Given the description of an element on the screen output the (x, y) to click on. 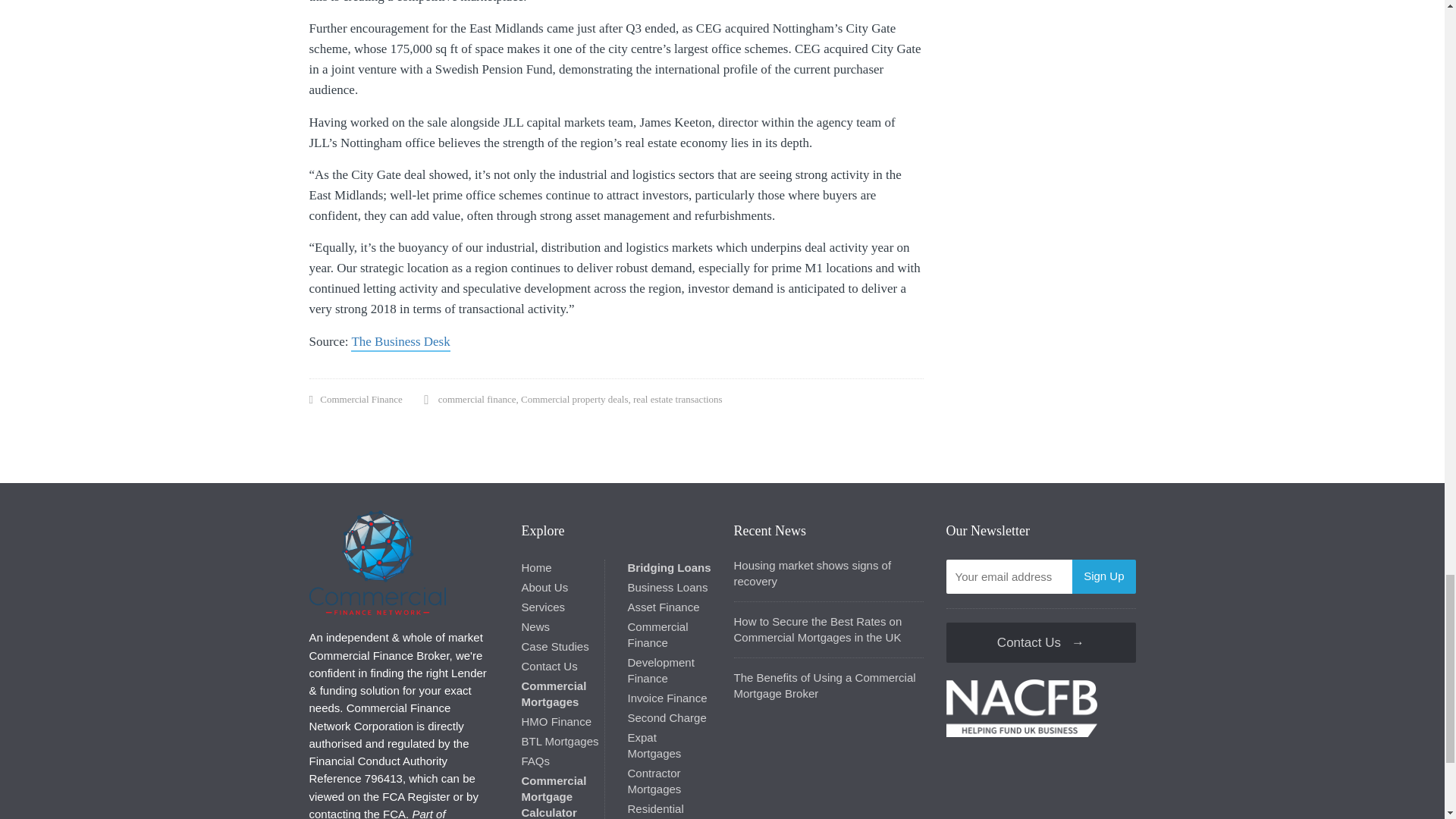
Sign up (1103, 576)
